Given the description of an element on the screen output the (x, y) to click on. 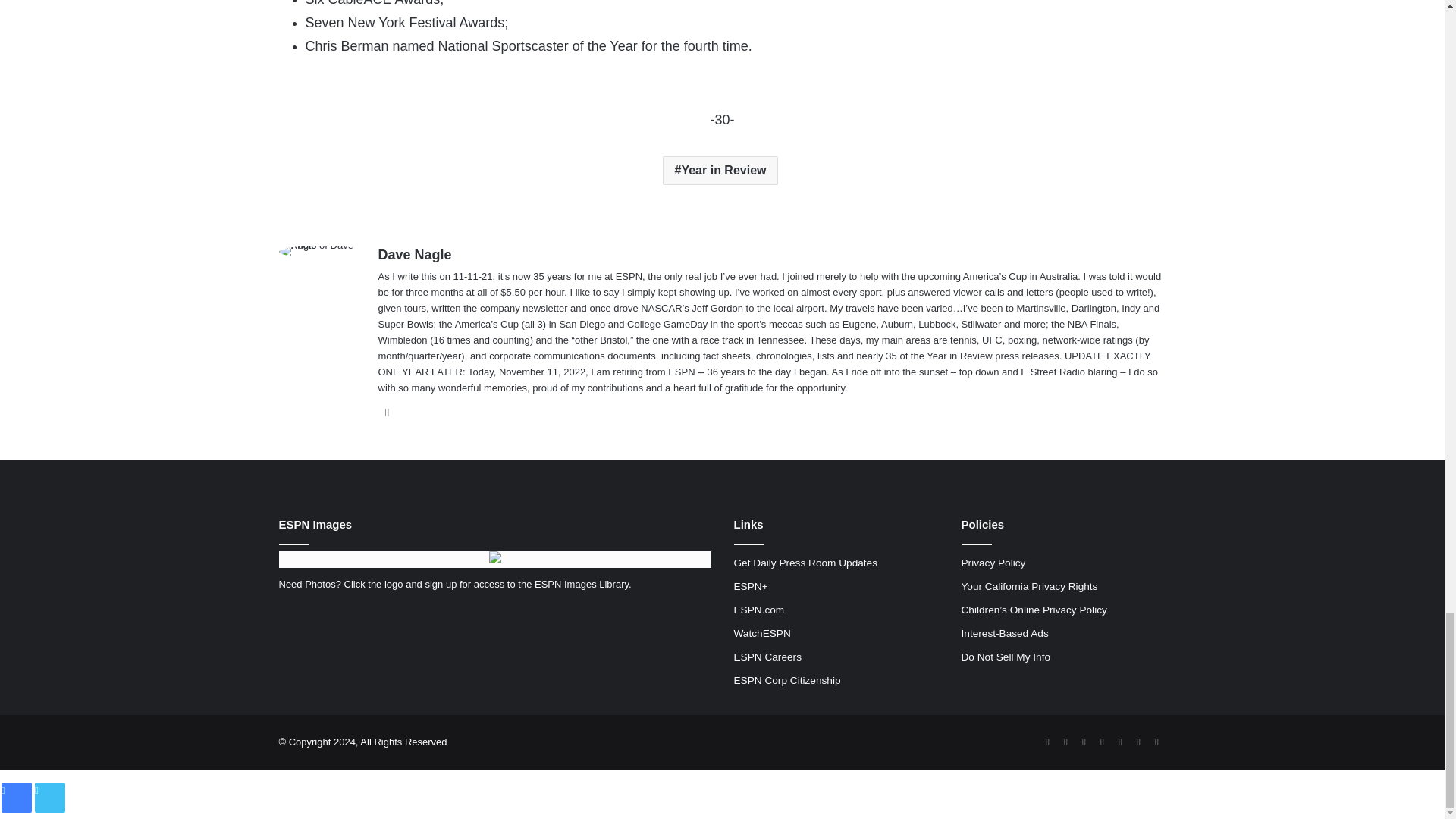
Year in Review (720, 170)
